Given the description of an element on the screen output the (x, y) to click on. 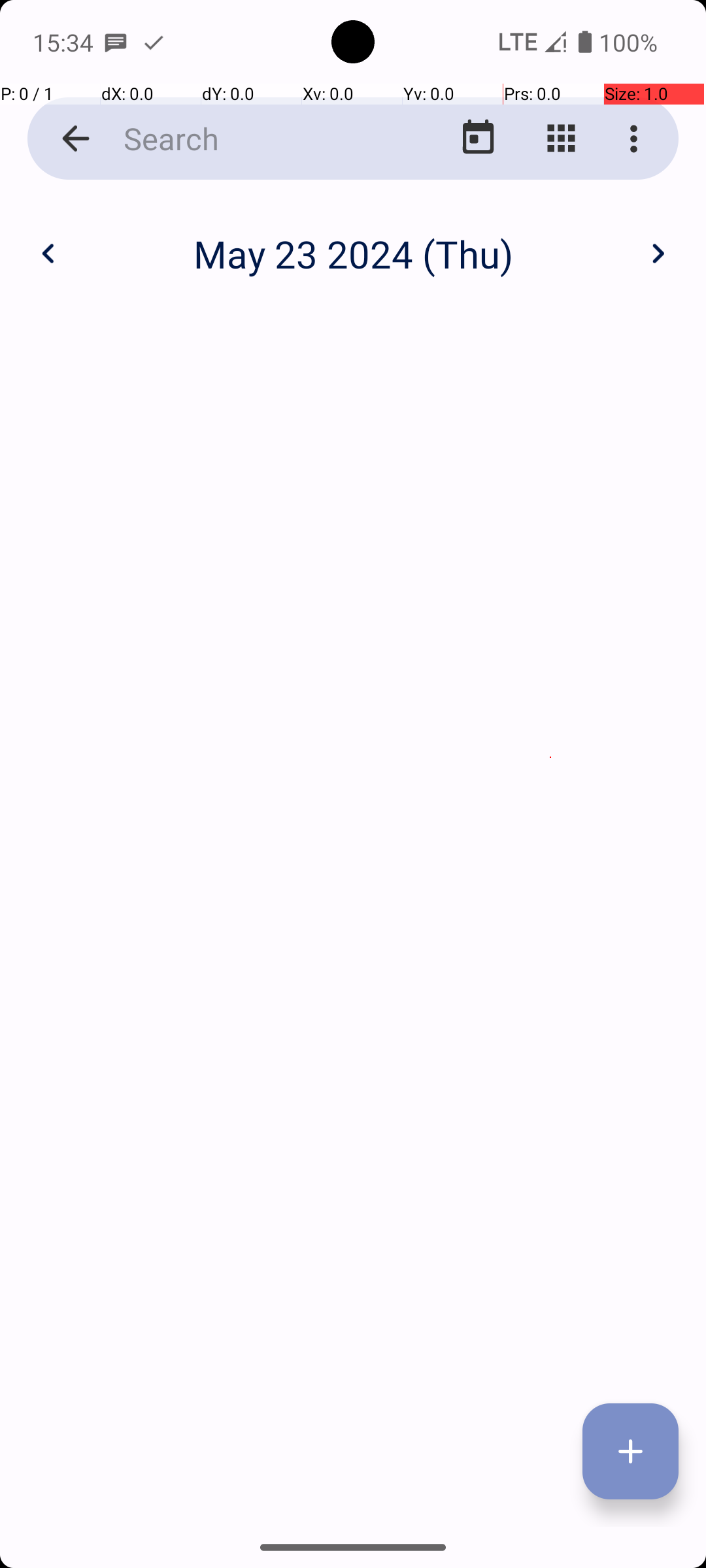
JANUARY Element type: android.widget.TextView (123, 319)
FEBRUARY Element type: android.widget.TextView (352, 319)
MARCH Element type: android.widget.TextView (582, 319)
APRIL Element type: android.widget.TextView (123, 621)
MAY Element type: android.widget.TextView (352, 621)
JUNE Element type: android.widget.TextView (582, 621)
JULY Element type: android.widget.TextView (123, 923)
AUGUST Element type: android.widget.TextView (352, 923)
SEPTEMBER Element type: android.widget.TextView (582, 923)
NOVEMBER Element type: android.widget.TextView (352, 1224)
DECEMBER Element type: android.widget.TextView (582, 1224)
May 2024 Element type: android.widget.TextView (352, 239)
May 23 2024 (Thu) Element type: android.widget.TextView (352, 253)
